Given the description of an element on the screen output the (x, y) to click on. 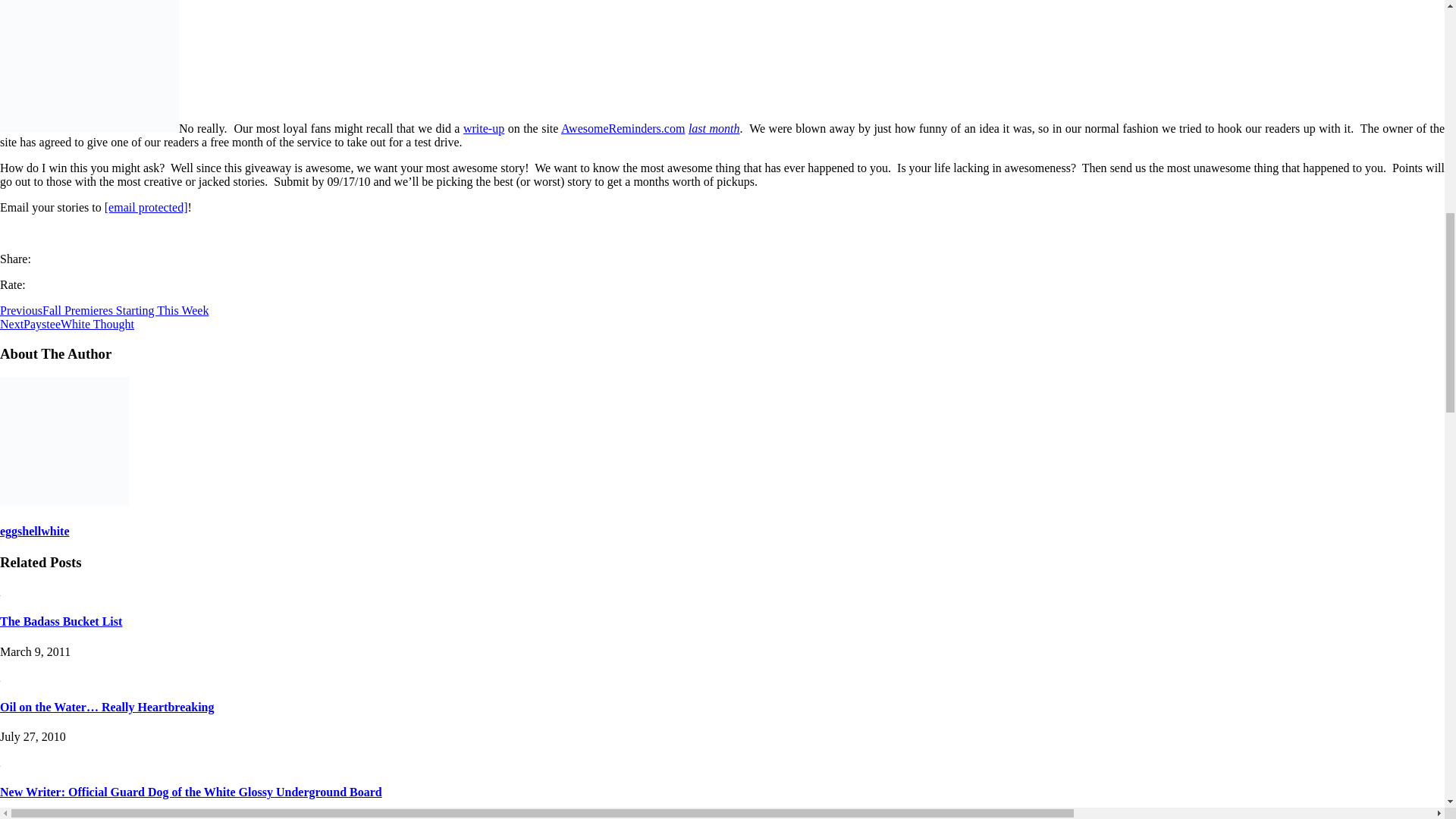
The Badass Bucket List (61, 621)
eggshellwhite (34, 530)
NextPaysteeWhite Thought (66, 323)
last month (713, 128)
PreviousFall Premieres Starting This Week (104, 309)
write-up (483, 128)
AwesomeReminders.com (622, 128)
Inspiration (89, 66)
